Given the description of an element on the screen output the (x, y) to click on. 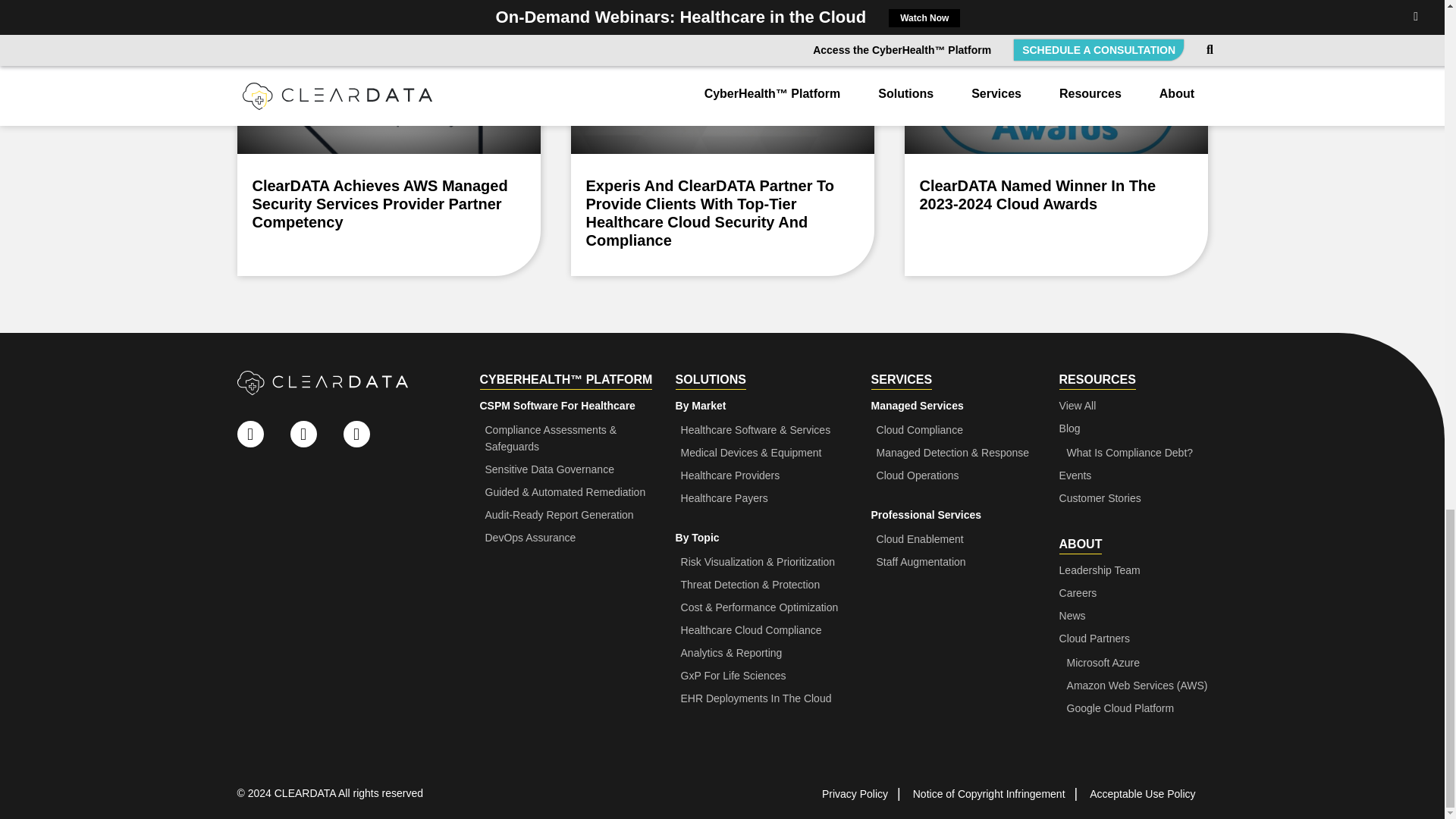
ClearDATA Named Winner in the 2023-2024 Cloud Awards (1055, 138)
